Given the description of an element on the screen output the (x, y) to click on. 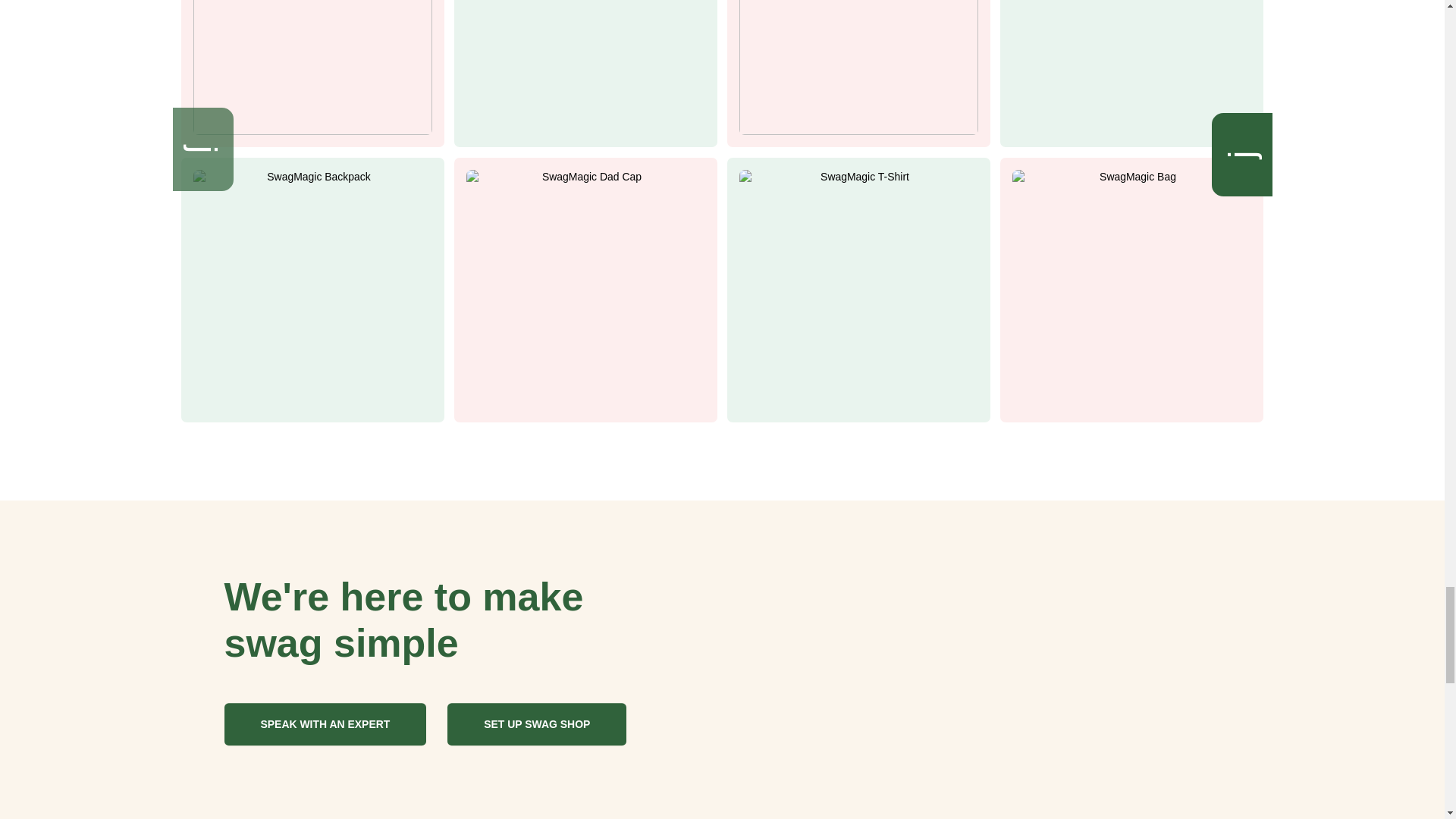
SET UP SWAG SHOP (536, 723)
Previous (214, 137)
Next (1253, 143)
SPEAK WITH AN EXPERT (325, 723)
